Given the description of an element on the screen output the (x, y) to click on. 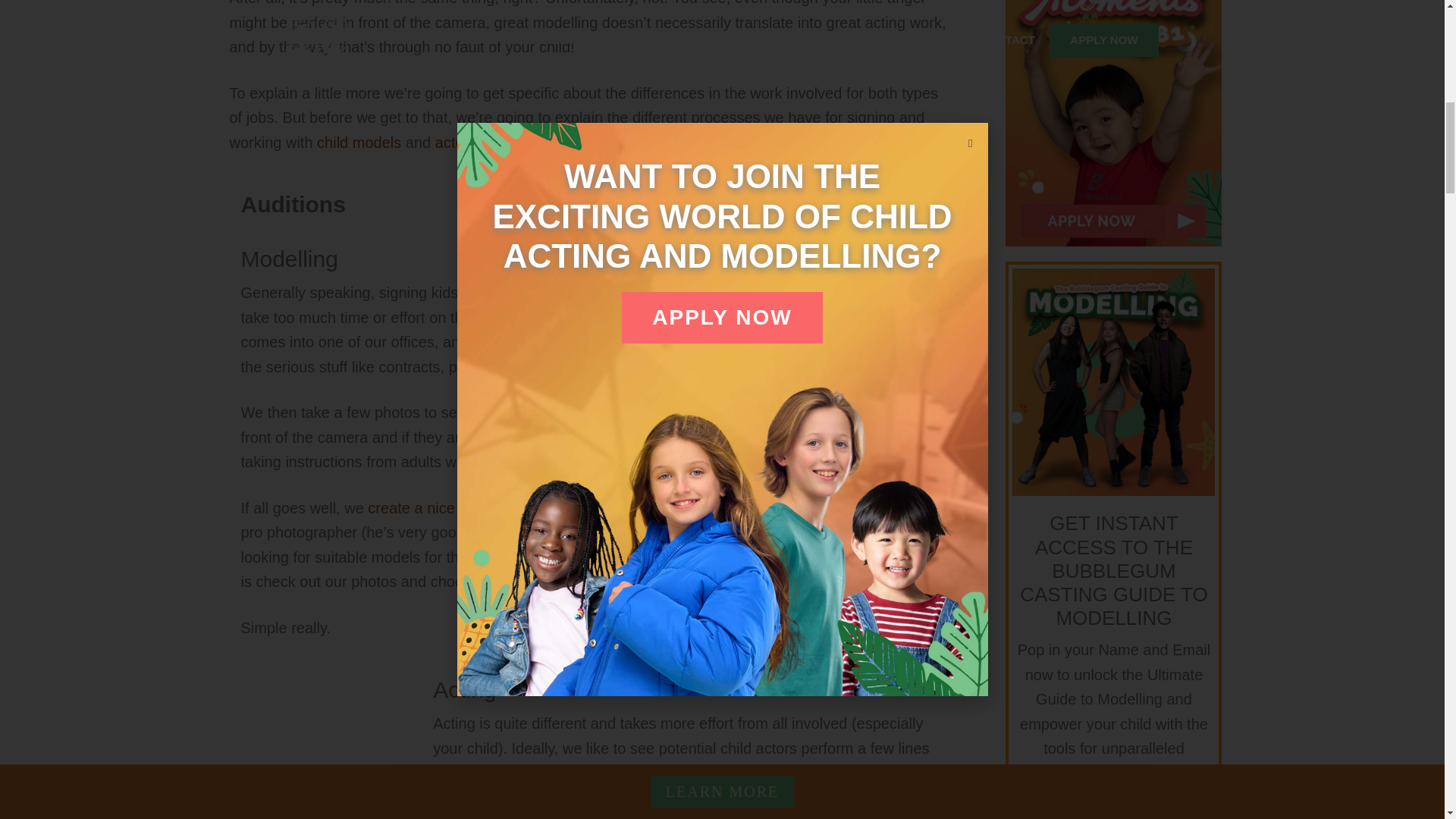
kids modeling and acting (318, 747)
